Given the description of an element on the screen output the (x, y) to click on. 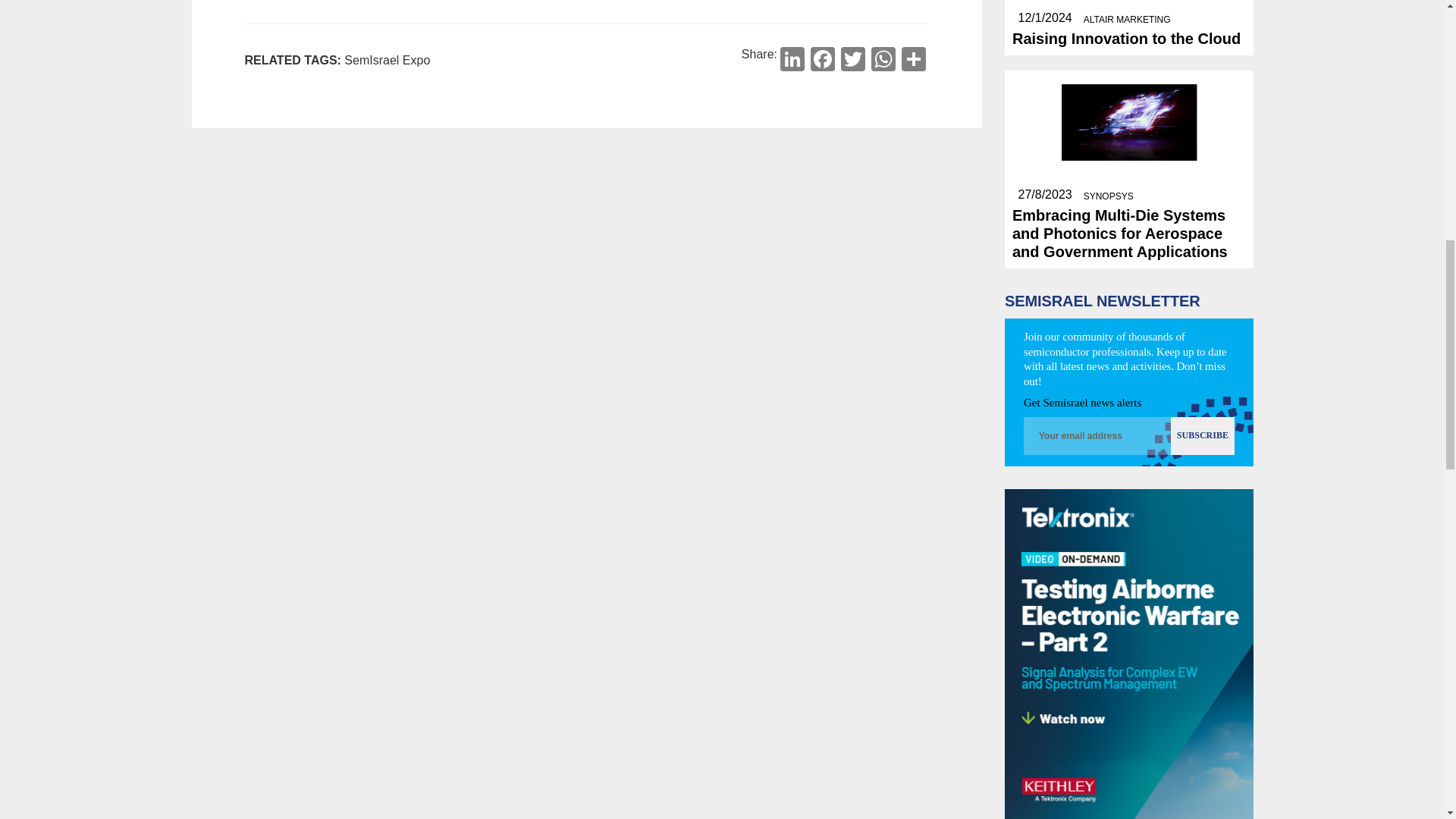
Twitter (852, 60)
Facebook (823, 60)
LinkedIn (792, 60)
WhatsApp (882, 60)
